Given the description of an element on the screen output the (x, y) to click on. 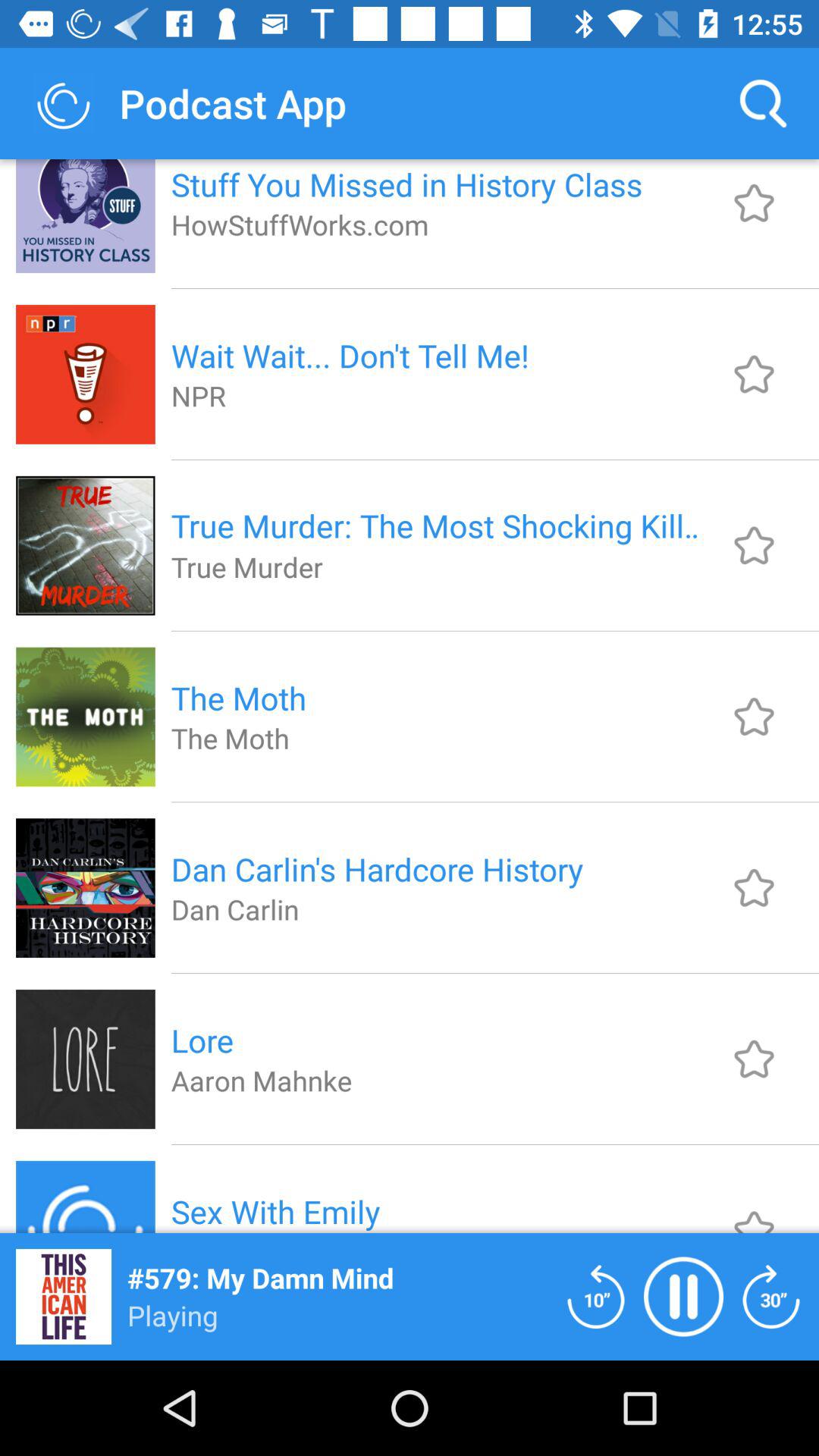
favorite item (754, 1209)
